Given the description of an element on the screen output the (x, y) to click on. 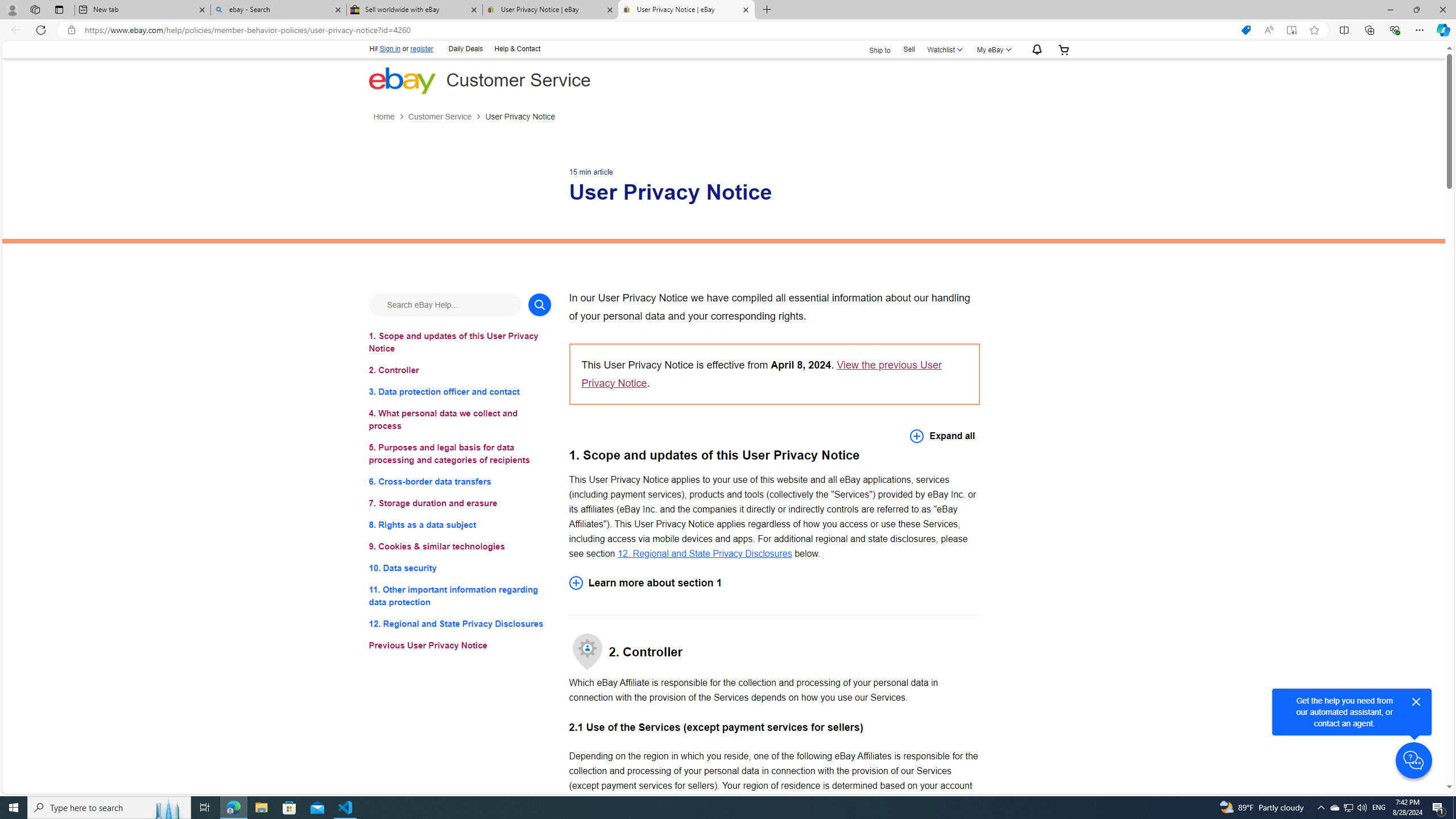
4. What personal data we collect and process (459, 419)
2. Controller (459, 369)
User Privacy Notice | eBay (685, 9)
Previous User Privacy Notice (459, 645)
eBay Home (401, 80)
Sell (908, 49)
3. Data protection officer and contact (459, 391)
6. Cross-border data transfers (459, 481)
Customer Service (439, 117)
Previous User Privacy Notice (459, 645)
12. Regional and State Privacy Disclosures (704, 552)
